Given the description of an element on the screen output the (x, y) to click on. 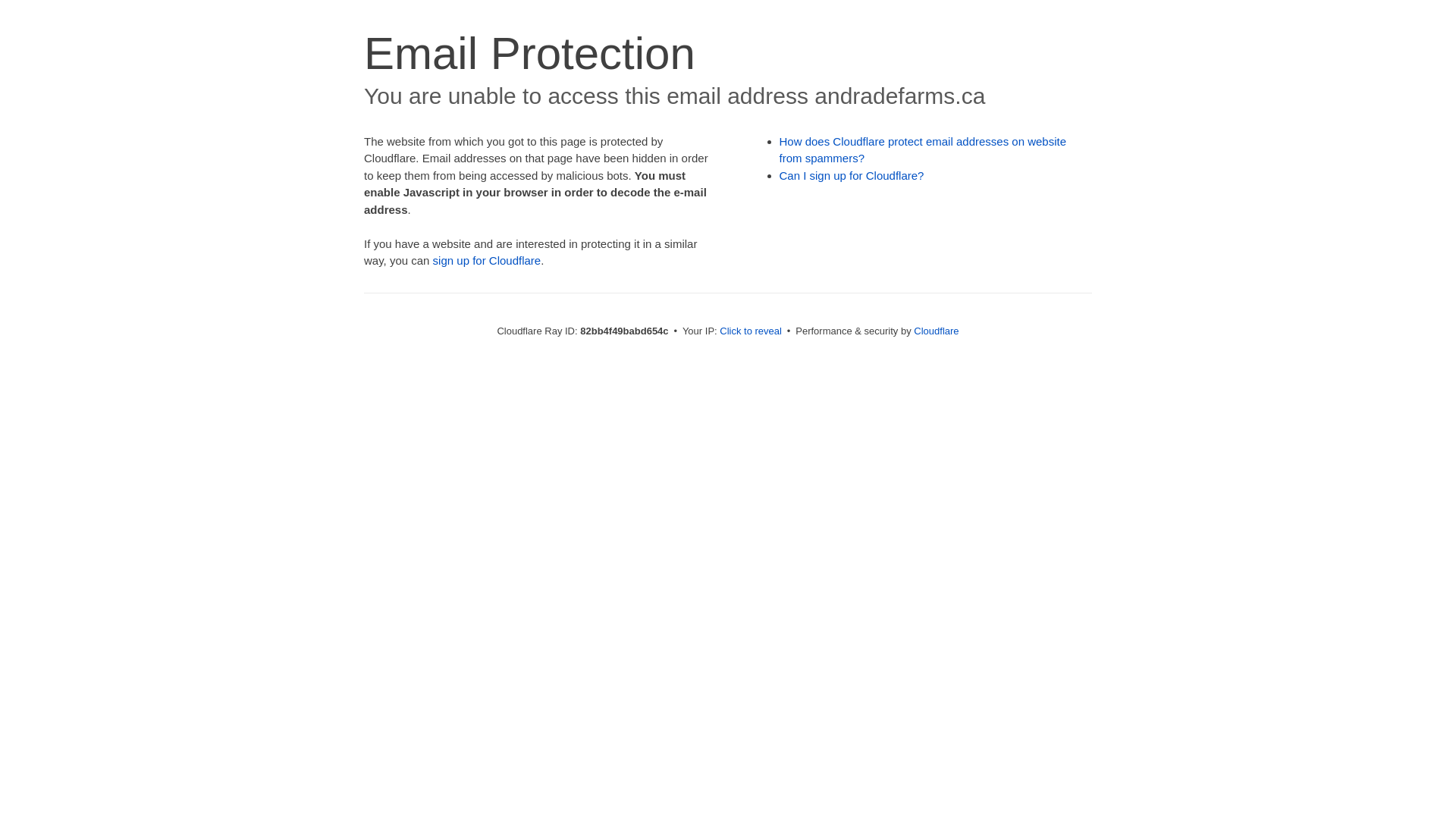
sign up for Cloudflare Element type: text (487, 260)
Click to reveal Element type: text (750, 330)
Can I sign up for Cloudflare? Element type: text (851, 175)
Cloudflare Element type: text (935, 330)
